Given the description of an element on the screen output the (x, y) to click on. 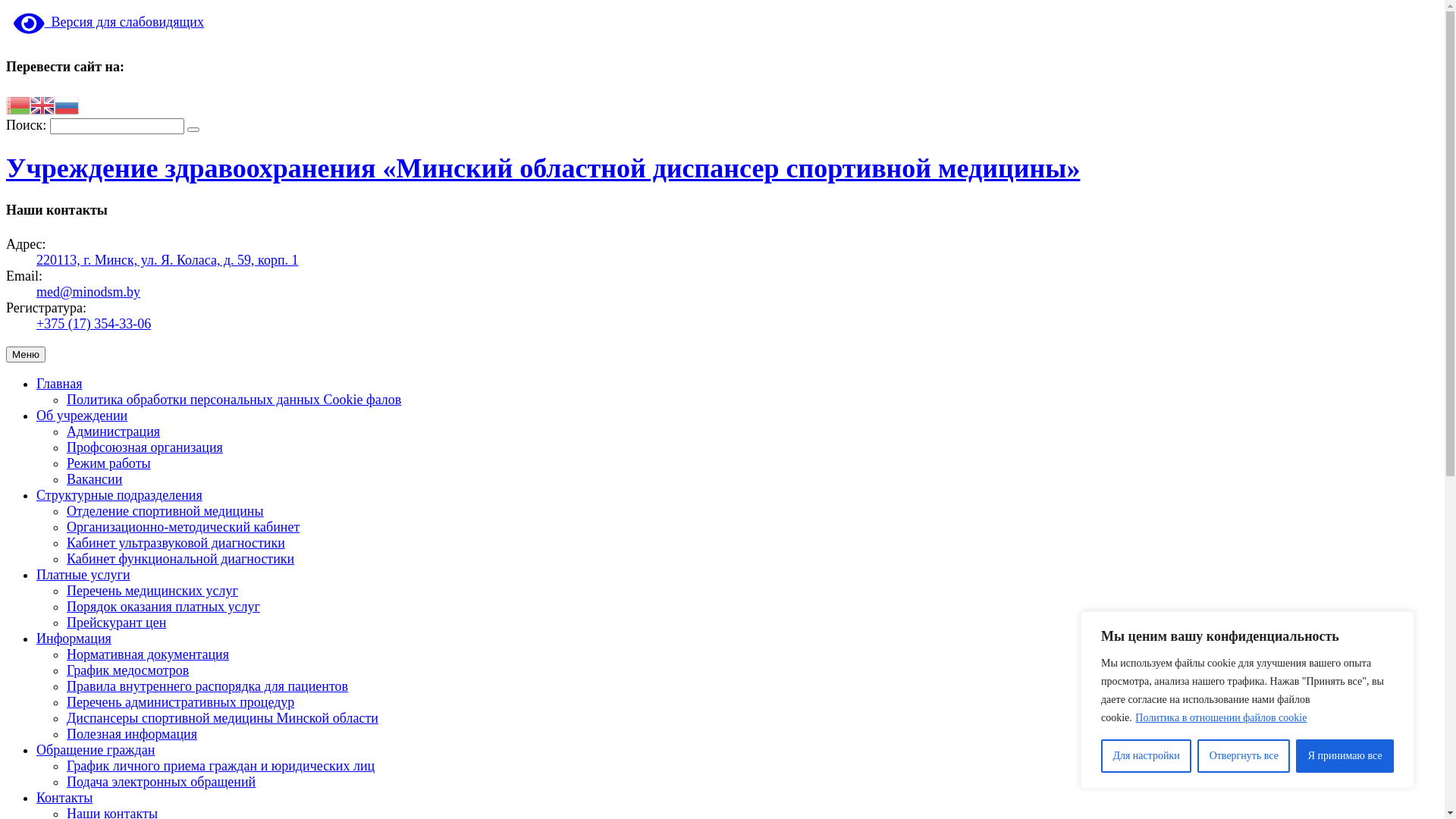
+375 (17) 354-33-06 Element type: text (93, 323)
Russian Element type: hover (66, 103)
Belarusian Element type: hover (18, 103)
English Element type: hover (42, 103)
med@minodsm.by Element type: text (88, 291)
